Given the description of an element on the screen output the (x, y) to click on. 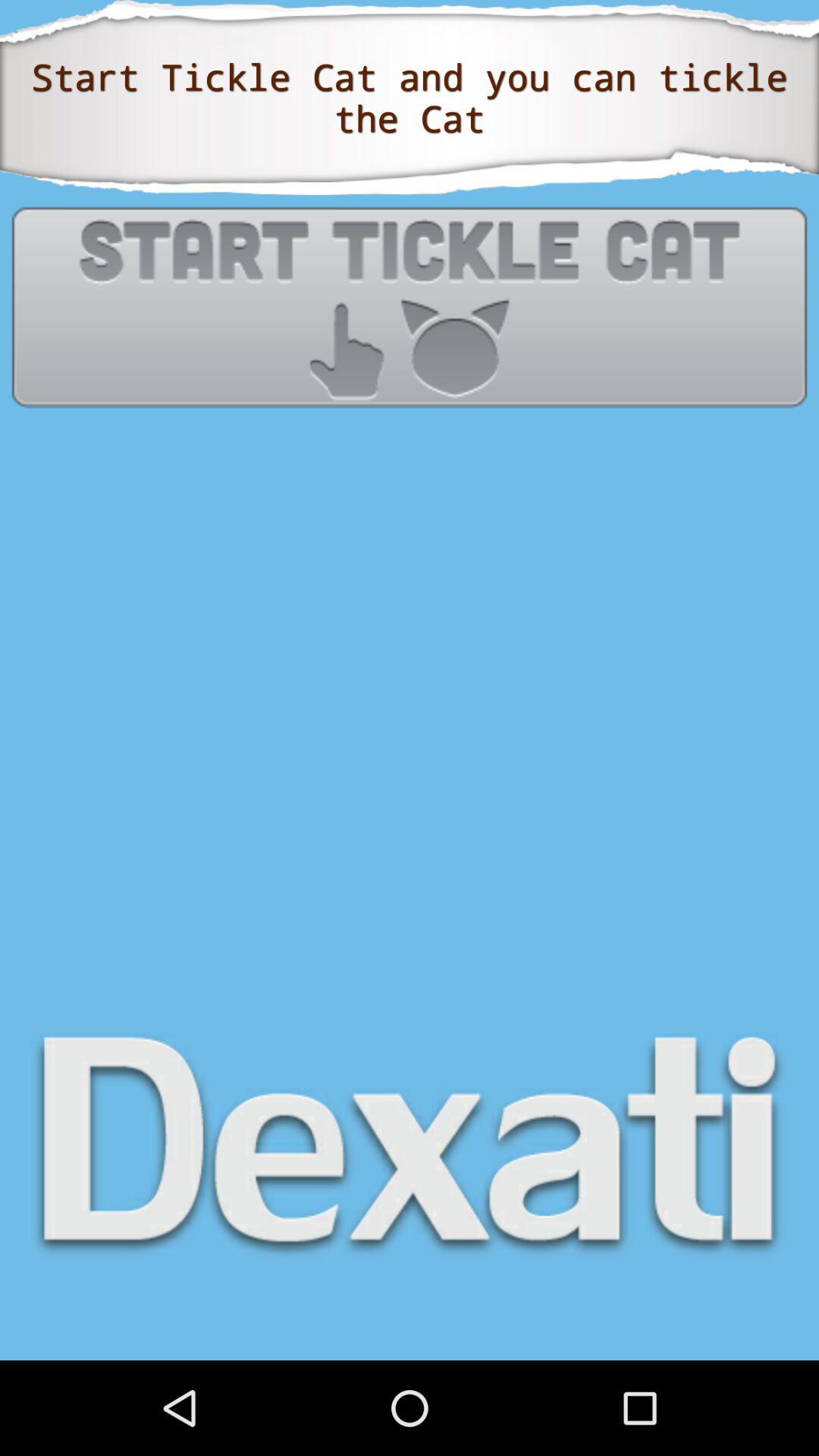
select to start the app (409, 306)
